Given the description of an element on the screen output the (x, y) to click on. 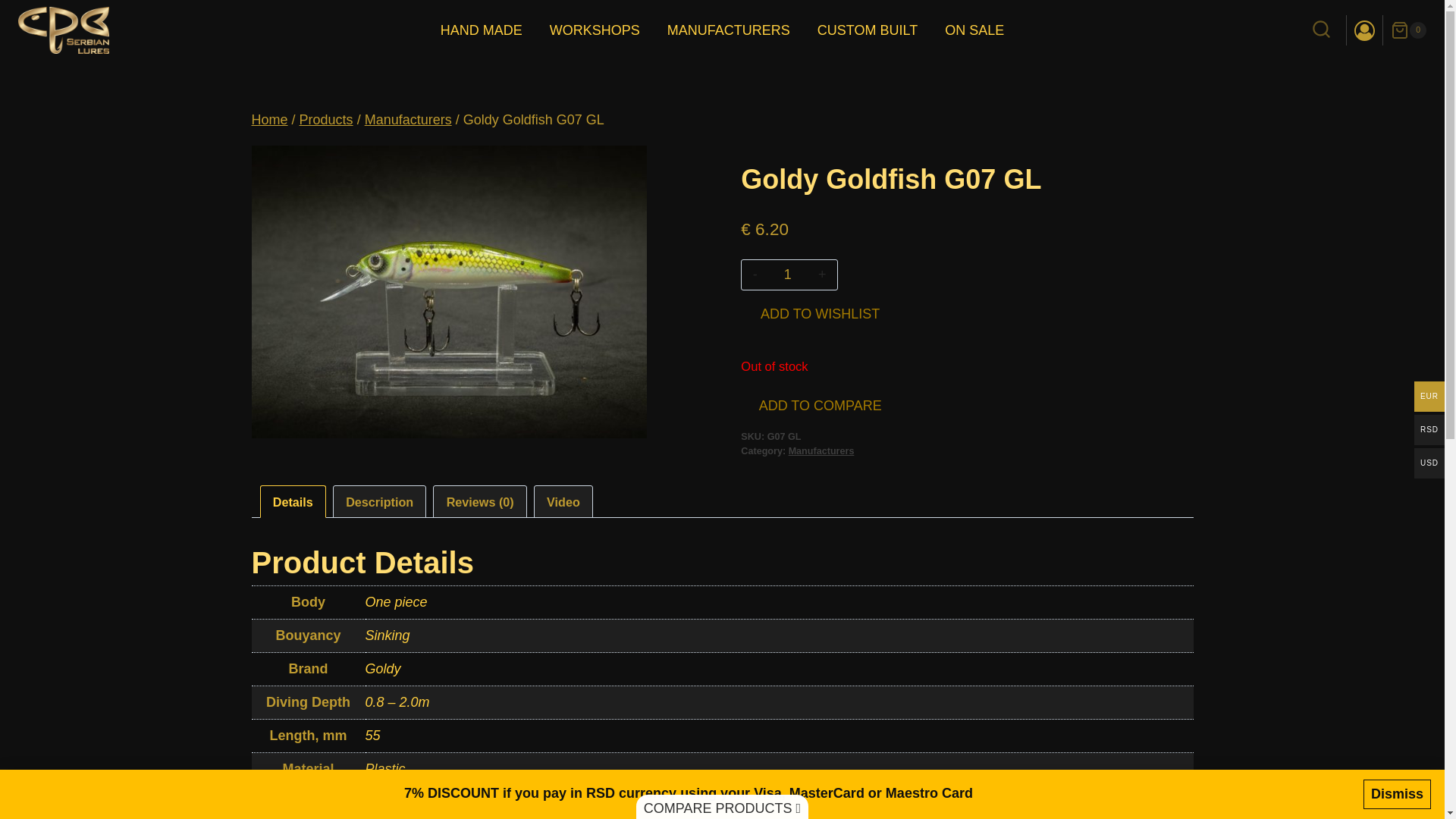
Products (326, 119)
WORKSHOPS (594, 30)
ON SALE (974, 30)
Goldy (383, 668)
MANUFACTURERS (728, 30)
1 (787, 275)
CUSTOM BUILT (867, 30)
0 (1408, 30)
Qty (787, 275)
HAND MADE (480, 30)
One piece (396, 601)
Manufacturers (408, 119)
55 (372, 735)
Yes (376, 801)
Video (563, 501)
